Given the description of an element on the screen output the (x, y) to click on. 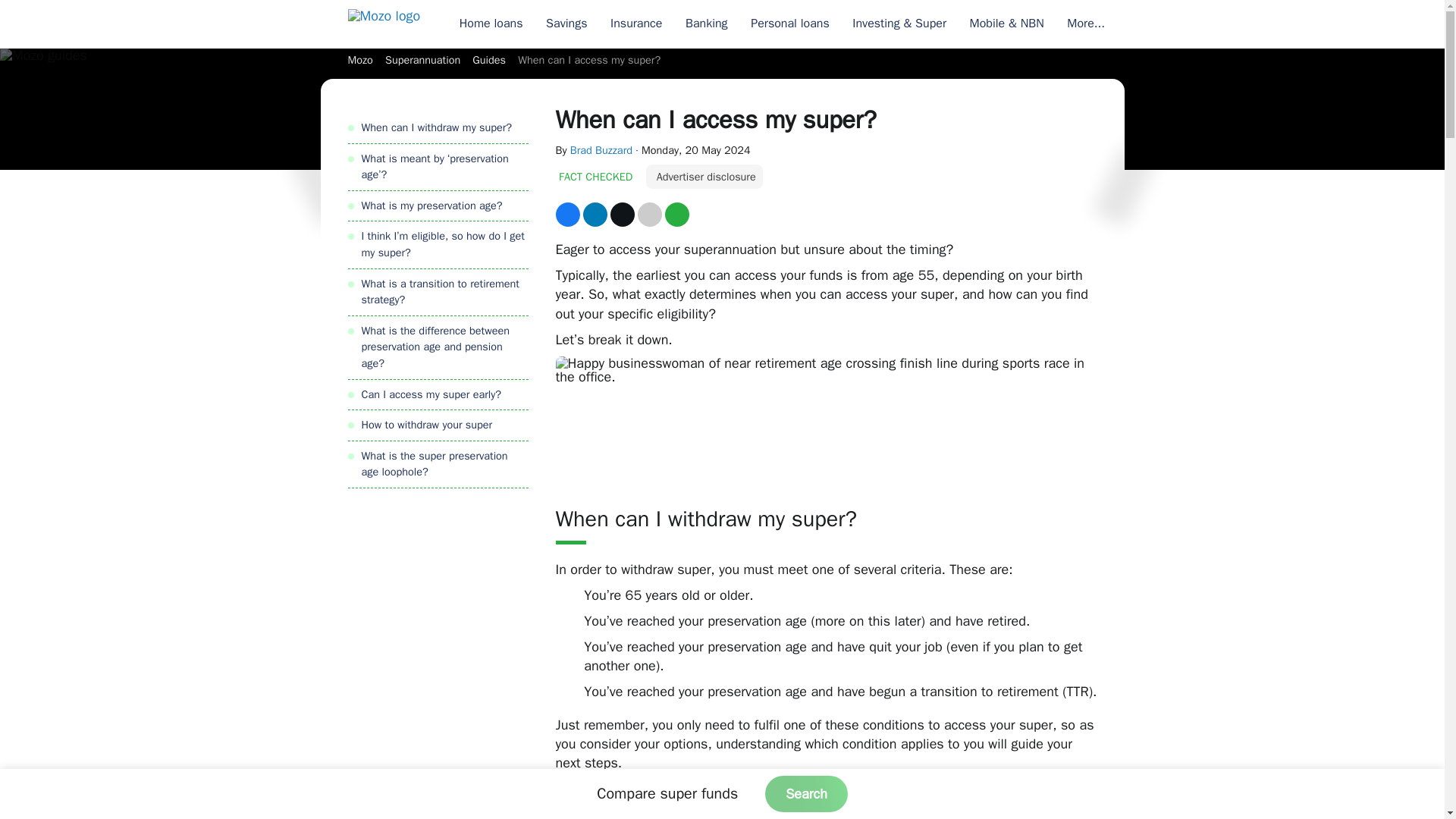
Insurance (635, 24)
Savings (565, 24)
Home loans (490, 24)
